Given the description of an element on the screen output the (x, y) to click on. 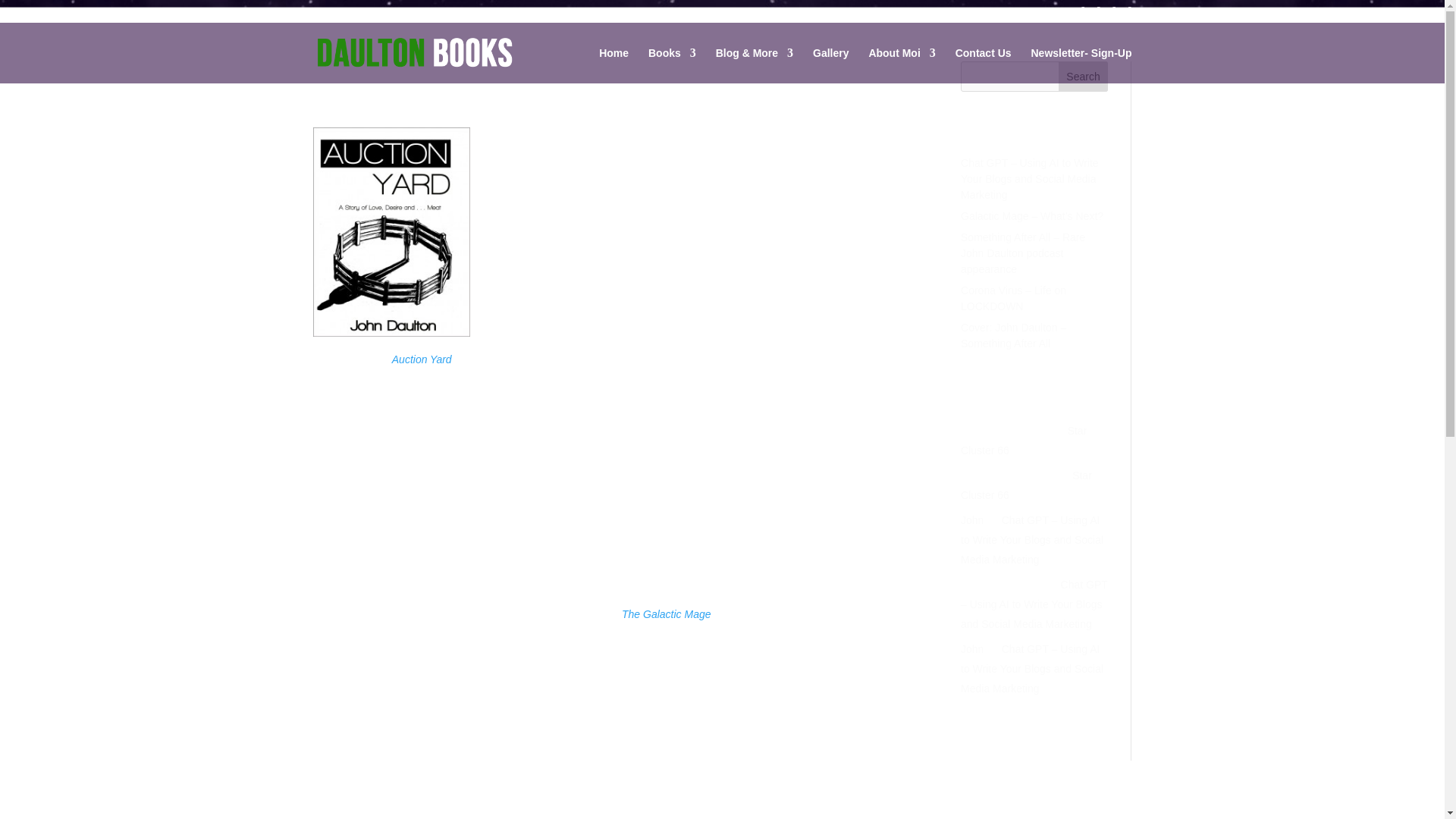
About Moi (900, 65)
Blog (468, 96)
Contact Us (983, 65)
The Galactic Mage (666, 613)
Posts by odesk.jatin (351, 96)
Search (1083, 76)
Newsletter- Sign-Up (1080, 65)
Auction Yard (421, 358)
Gallery (830, 65)
Books (671, 65)
odesk.jatin (351, 96)
2 comments (515, 96)
